Given the description of an element on the screen output the (x, y) to click on. 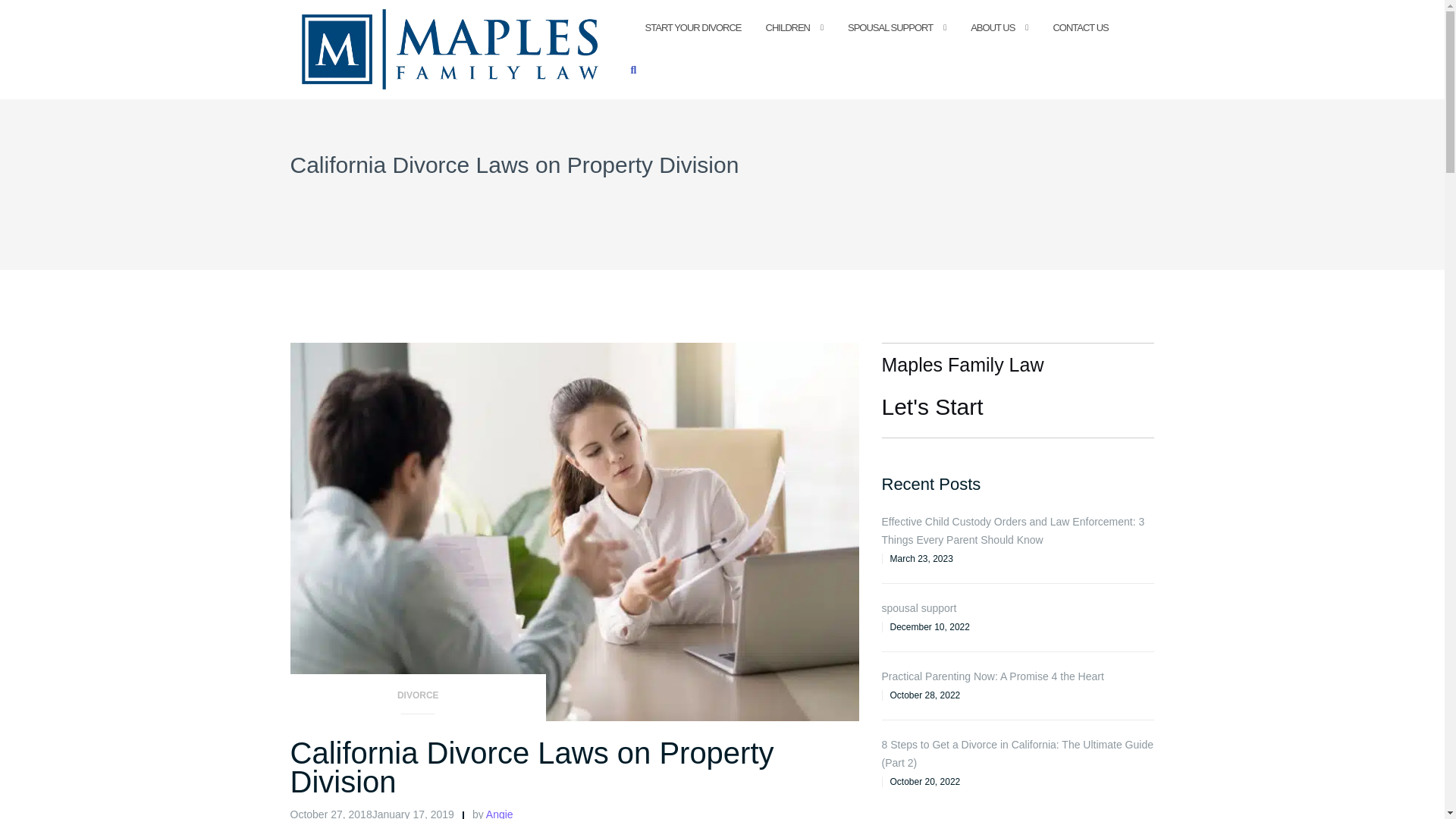
Angie (499, 813)
Contact Us (1080, 28)
About Us (992, 28)
SPOUSAL SUPPORT (890, 28)
CHILDREN (787, 28)
ABOUT US (992, 28)
DIVORCE (417, 700)
START YOUR DIVORCE (693, 28)
Children (787, 28)
Start Your Divorce (693, 28)
